Given the description of an element on the screen output the (x, y) to click on. 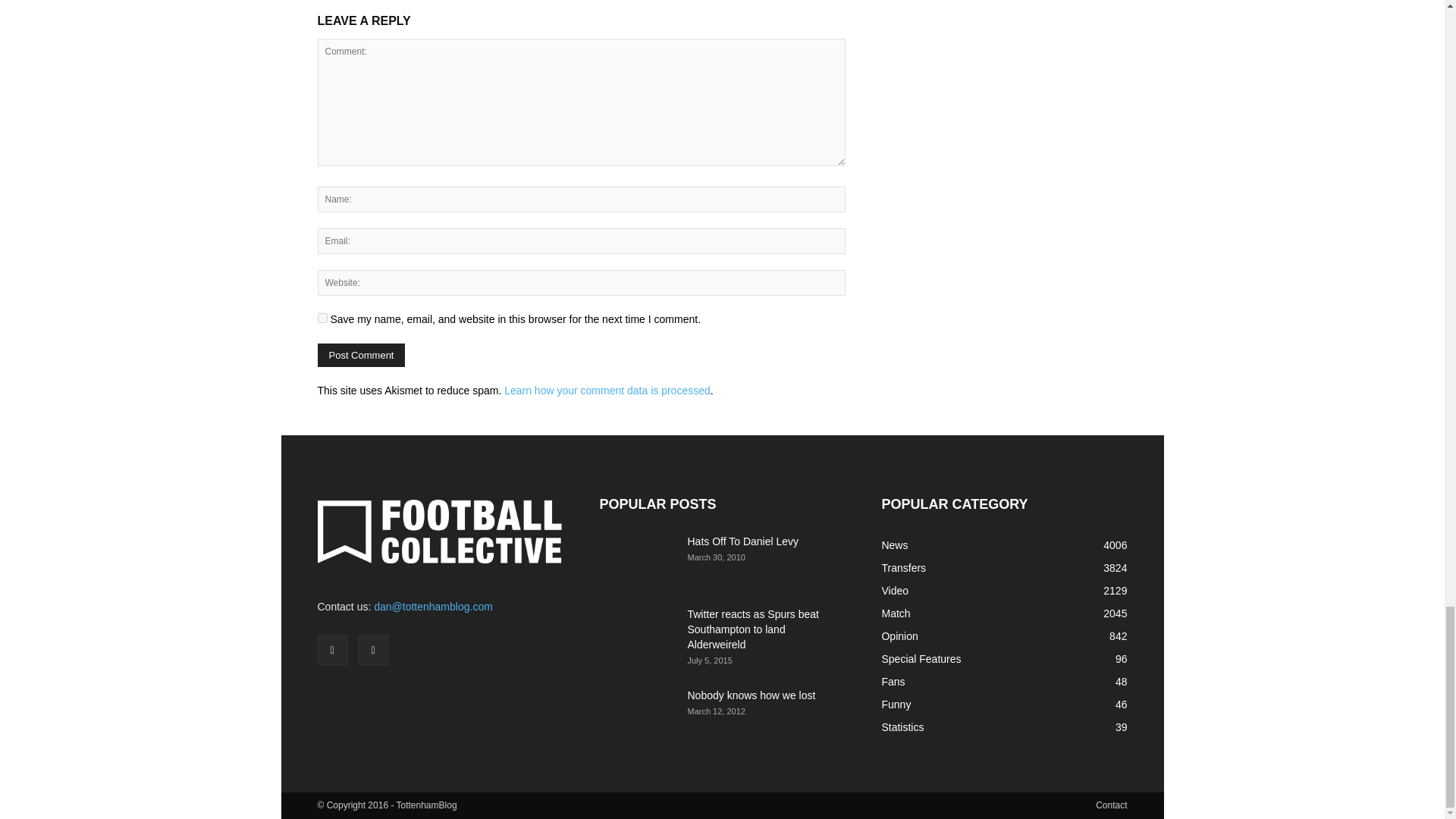
yes (321, 317)
Post Comment (360, 354)
